Given the description of an element on the screen output the (x, y) to click on. 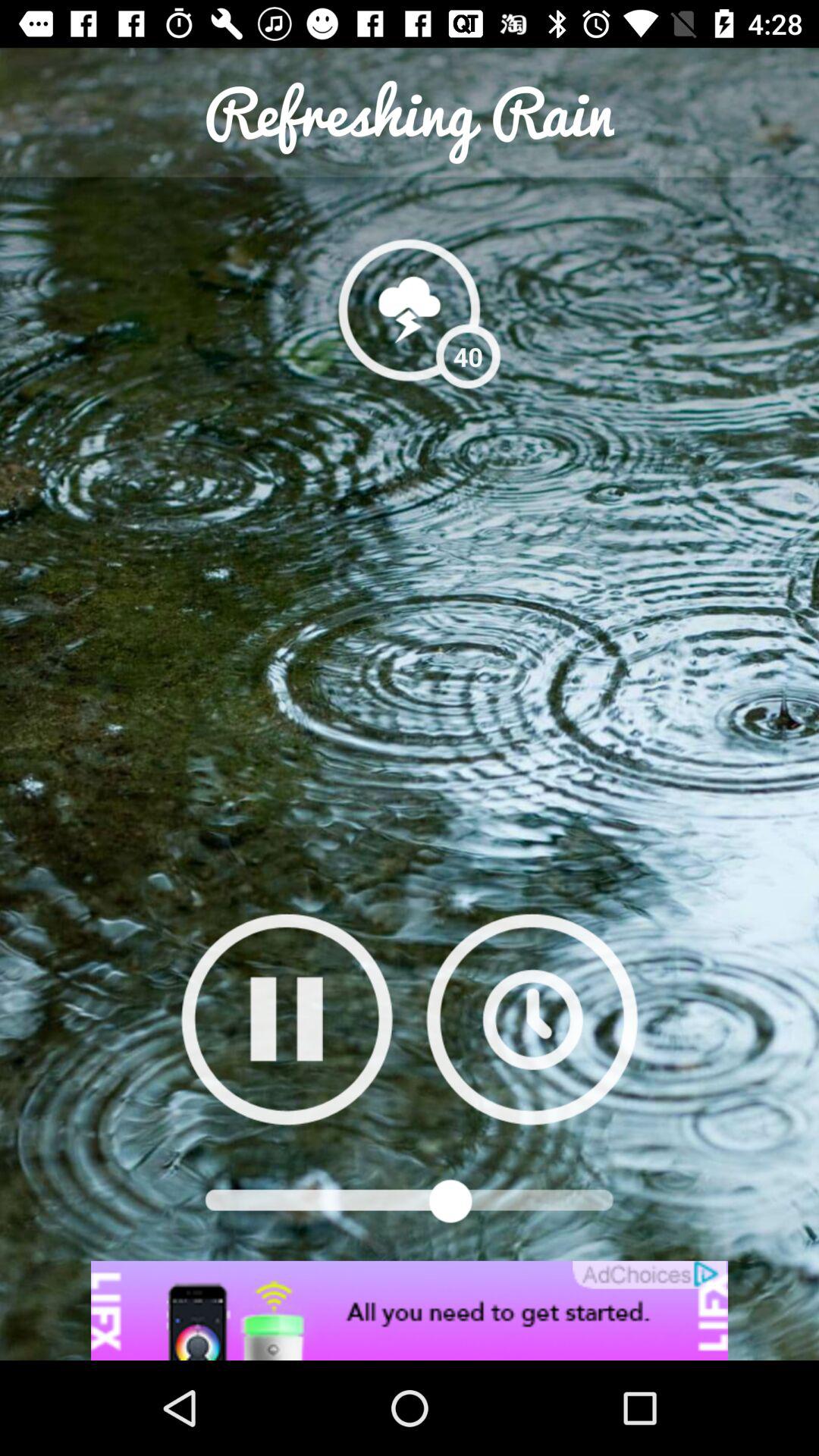
timing (531, 1018)
